Given the description of an element on the screen output the (x, y) to click on. 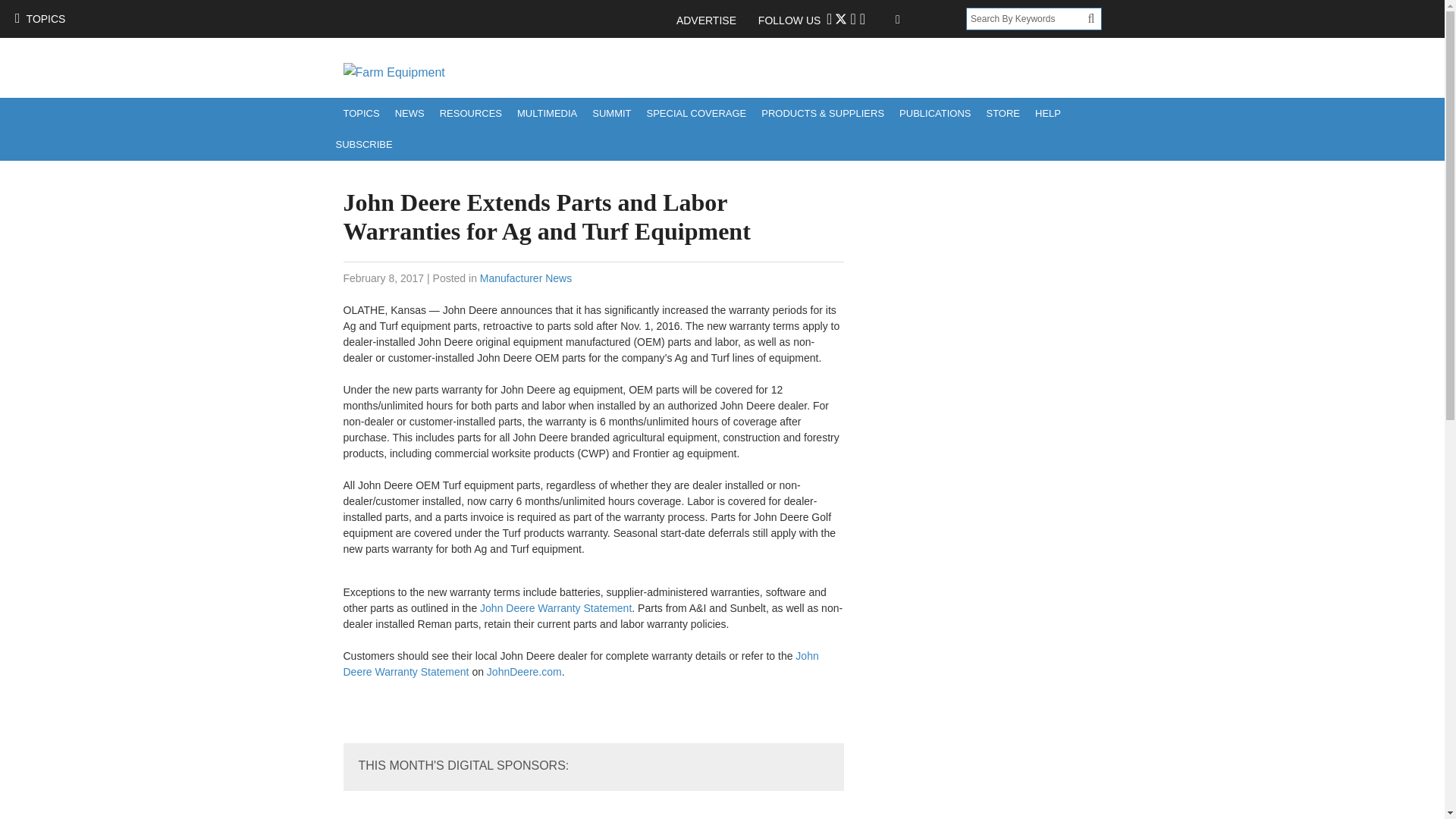
ADVERTISE (714, 20)
TOPICS (360, 112)
Search By Keywords (1026, 18)
TOPICS (39, 18)
Search By Keywords (1026, 18)
